Given the description of an element on the screen output the (x, y) to click on. 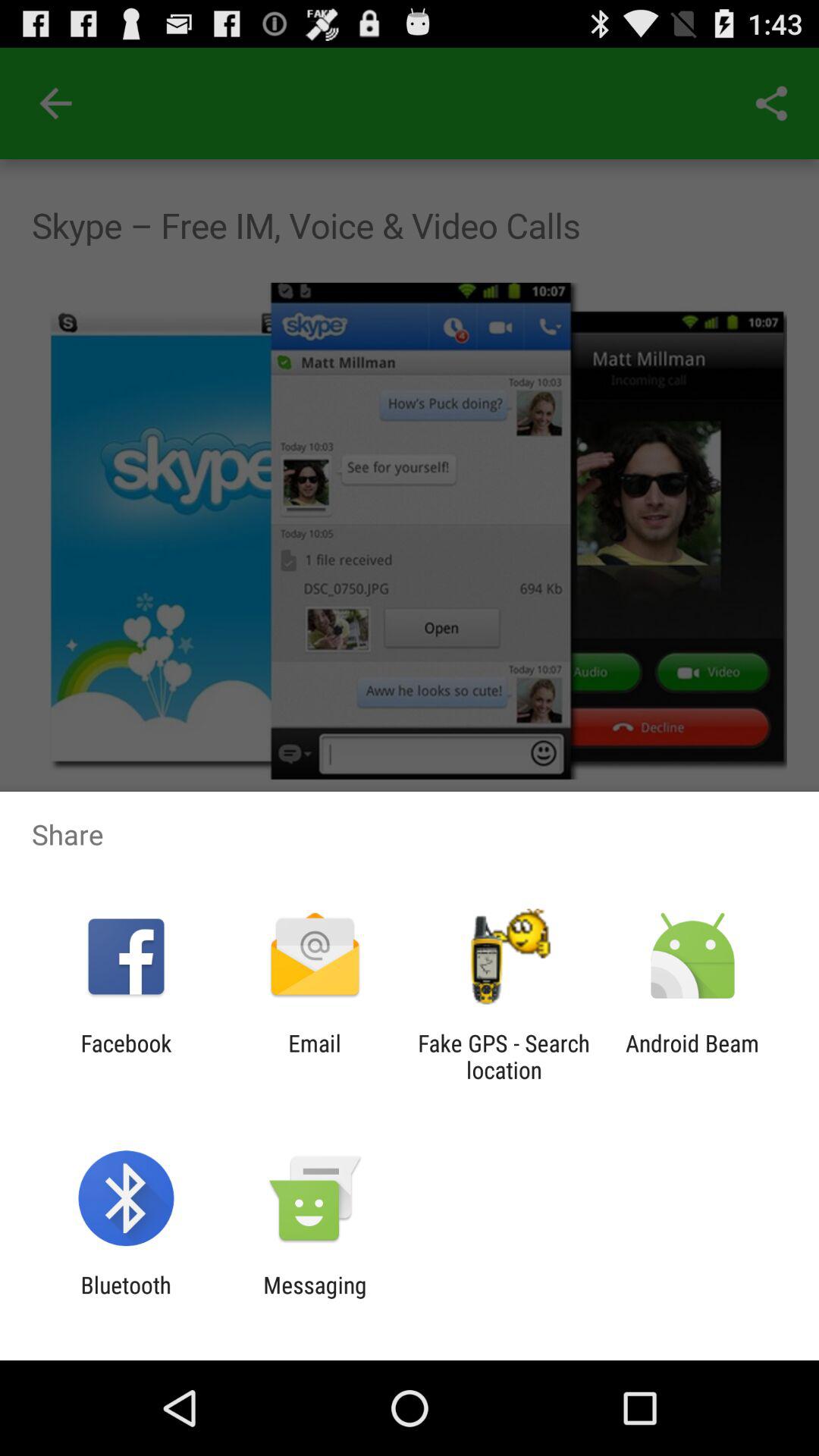
press the app next to bluetooth app (314, 1298)
